Given the description of an element on the screen output the (x, y) to click on. 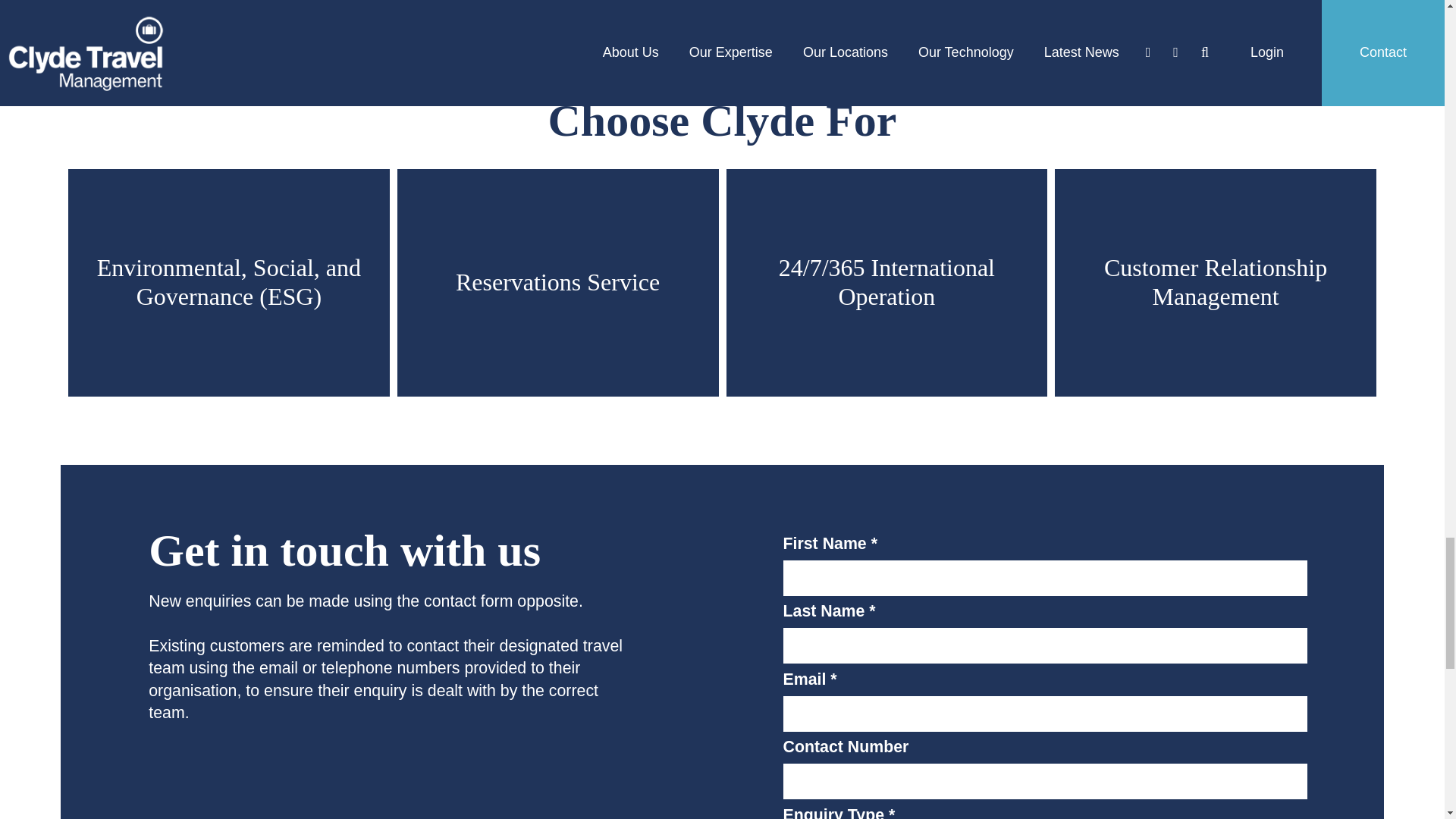
Reservations Service (558, 282)
Find Your Local Office (721, 17)
Customer Relationship Management (1214, 282)
